Given the description of an element on the screen output the (x, y) to click on. 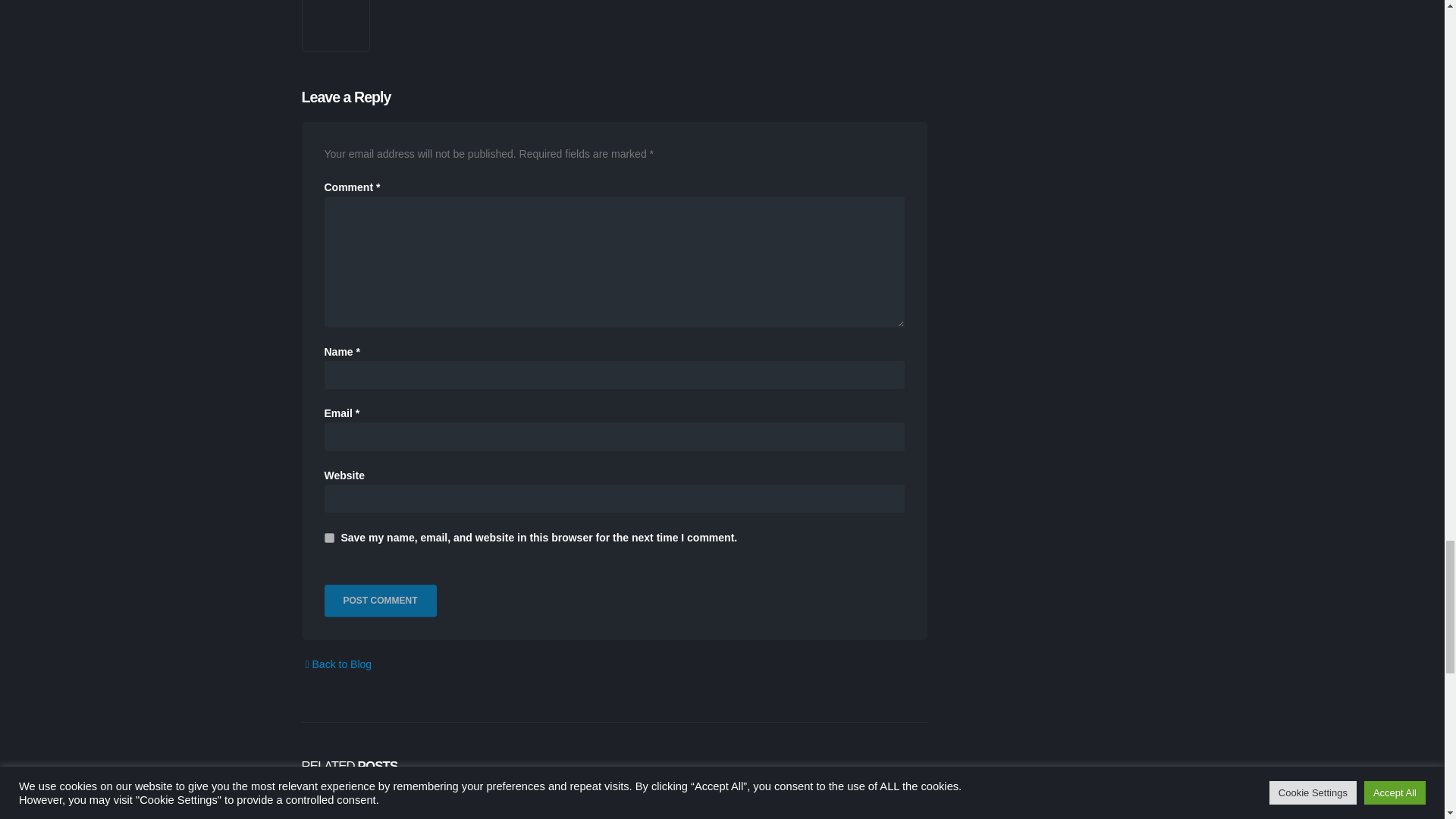
yes (329, 537)
Post Comment (380, 600)
